Given the description of an element on the screen output the (x, y) to click on. 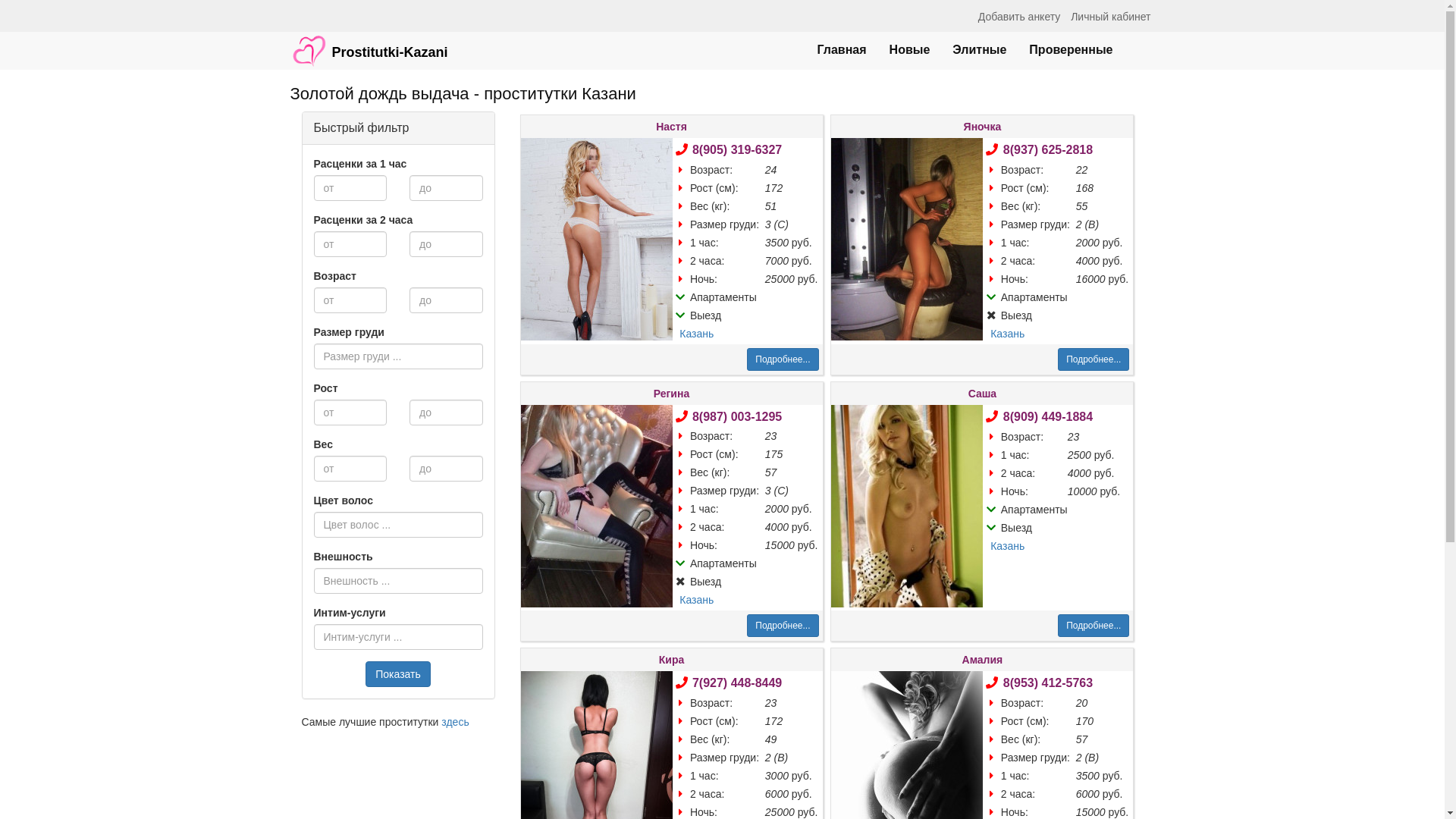
Prostitutki-Kazani Element type: text (369, 43)
